Given the description of an element on the screen output the (x, y) to click on. 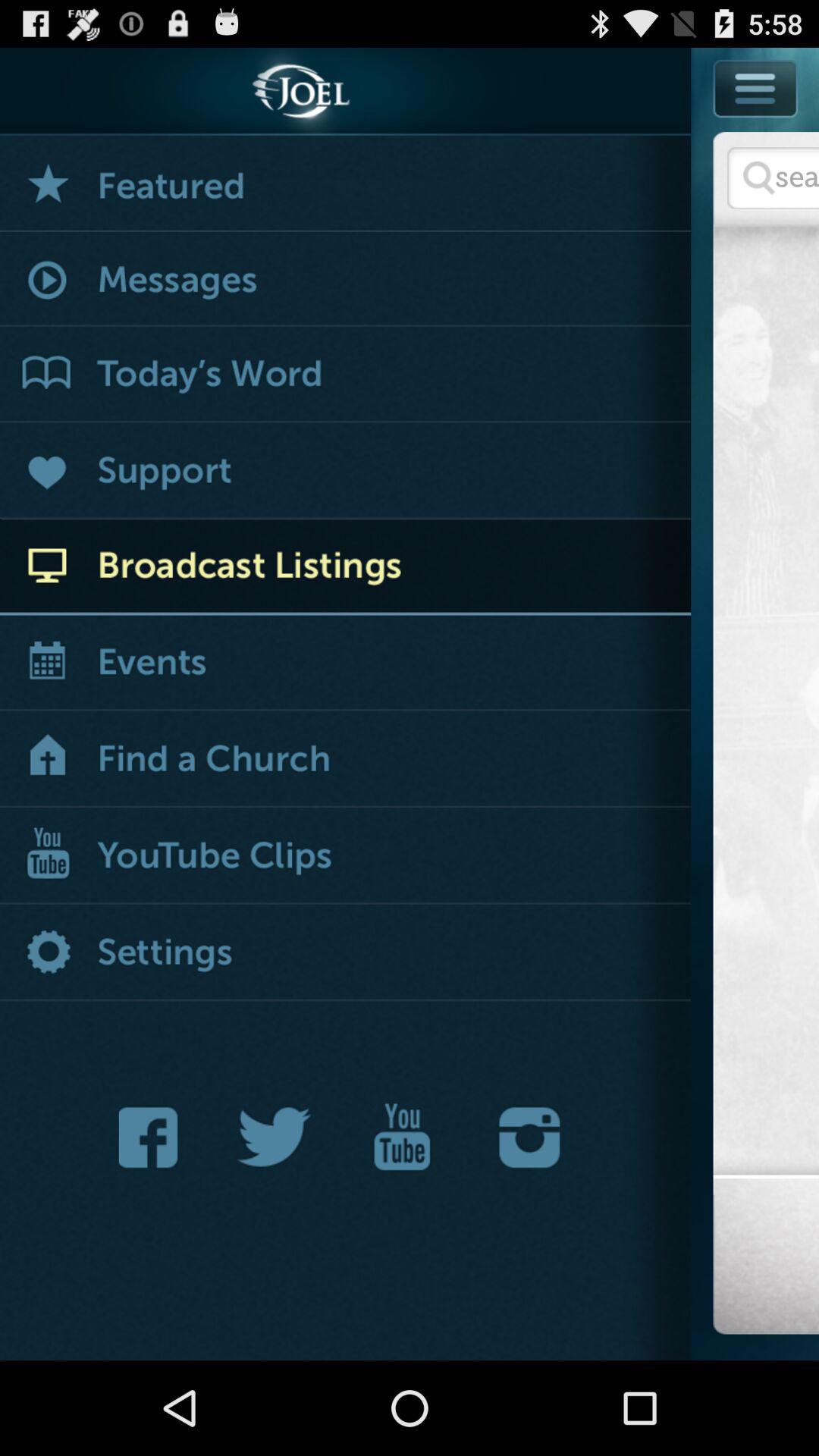
tap to menu (755, 88)
